Given the description of an element on the screen output the (x, y) to click on. 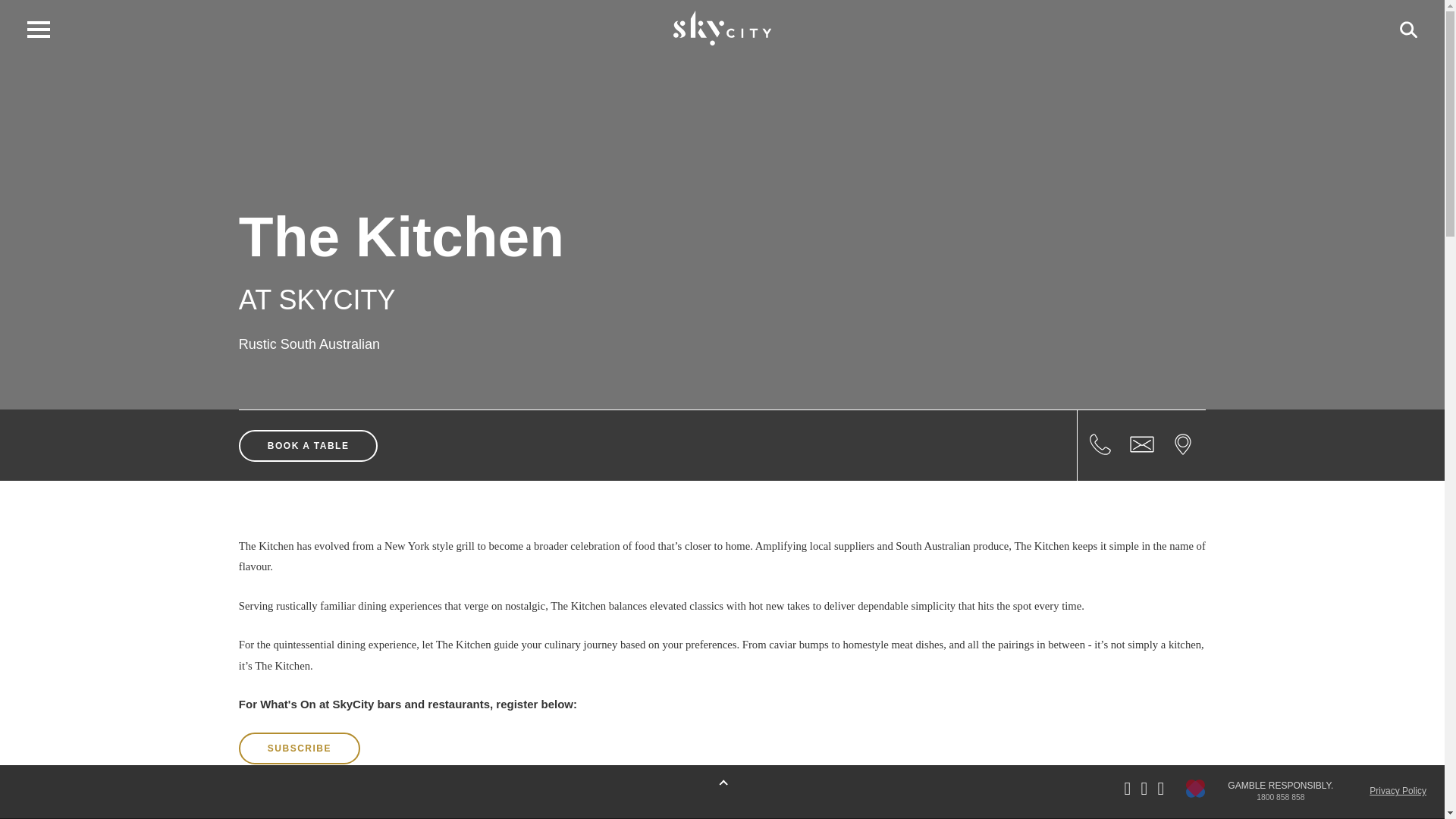
Privacy Policy (1398, 790)
SUBSCRIBE (299, 747)
The Kitchen Newsletter (299, 747)
